Given the description of an element on the screen output the (x, y) to click on. 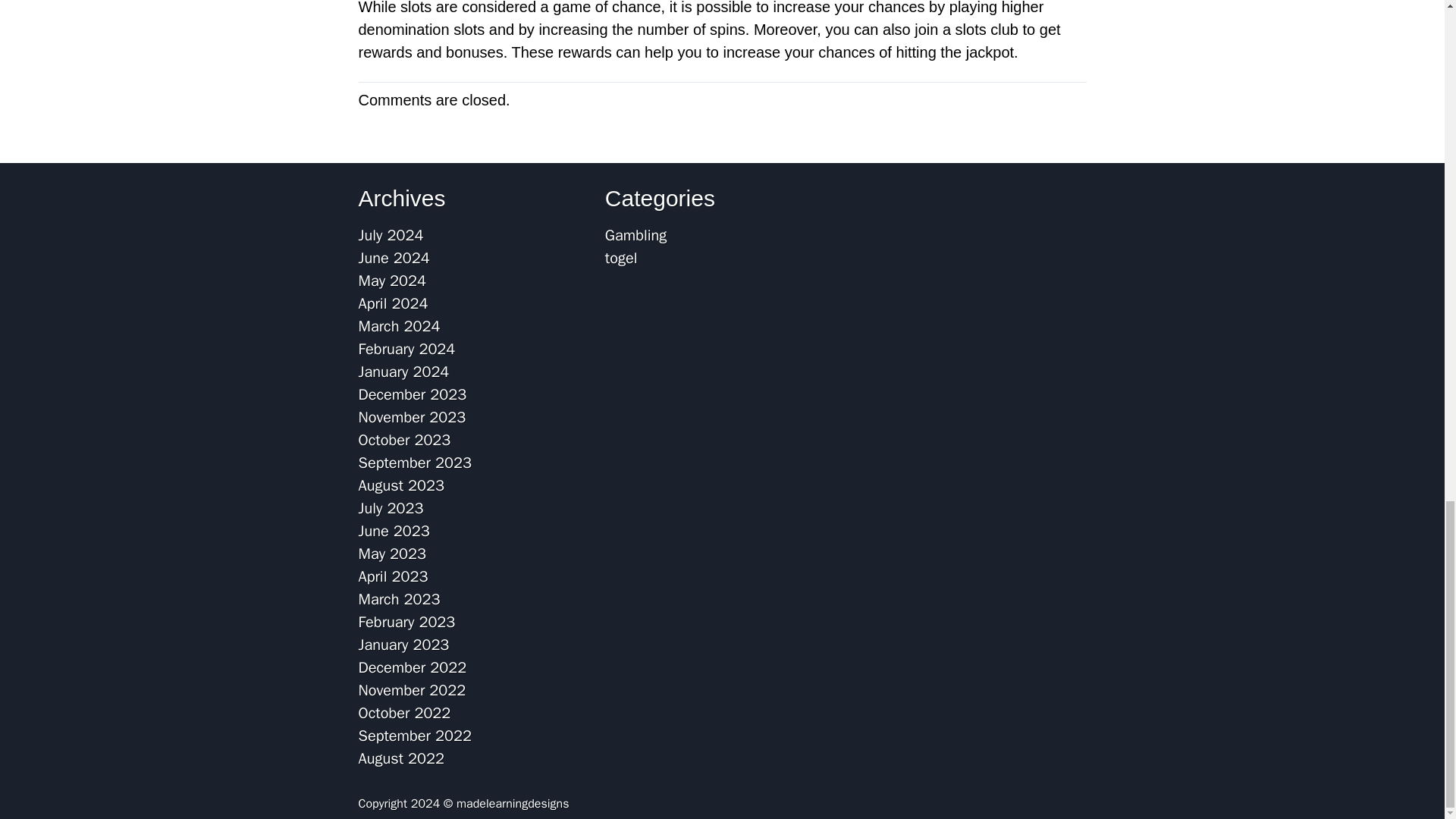
November 2023 (411, 416)
February 2024 (406, 348)
October 2022 (403, 712)
April 2024 (393, 303)
May 2023 (392, 553)
September 2022 (414, 735)
July 2024 (390, 235)
August 2022 (401, 758)
December 2022 (411, 667)
January 2023 (403, 644)
July 2023 (390, 507)
September 2023 (414, 462)
August 2023 (401, 485)
April 2023 (393, 576)
February 2023 (406, 621)
